Given the description of an element on the screen output the (x, y) to click on. 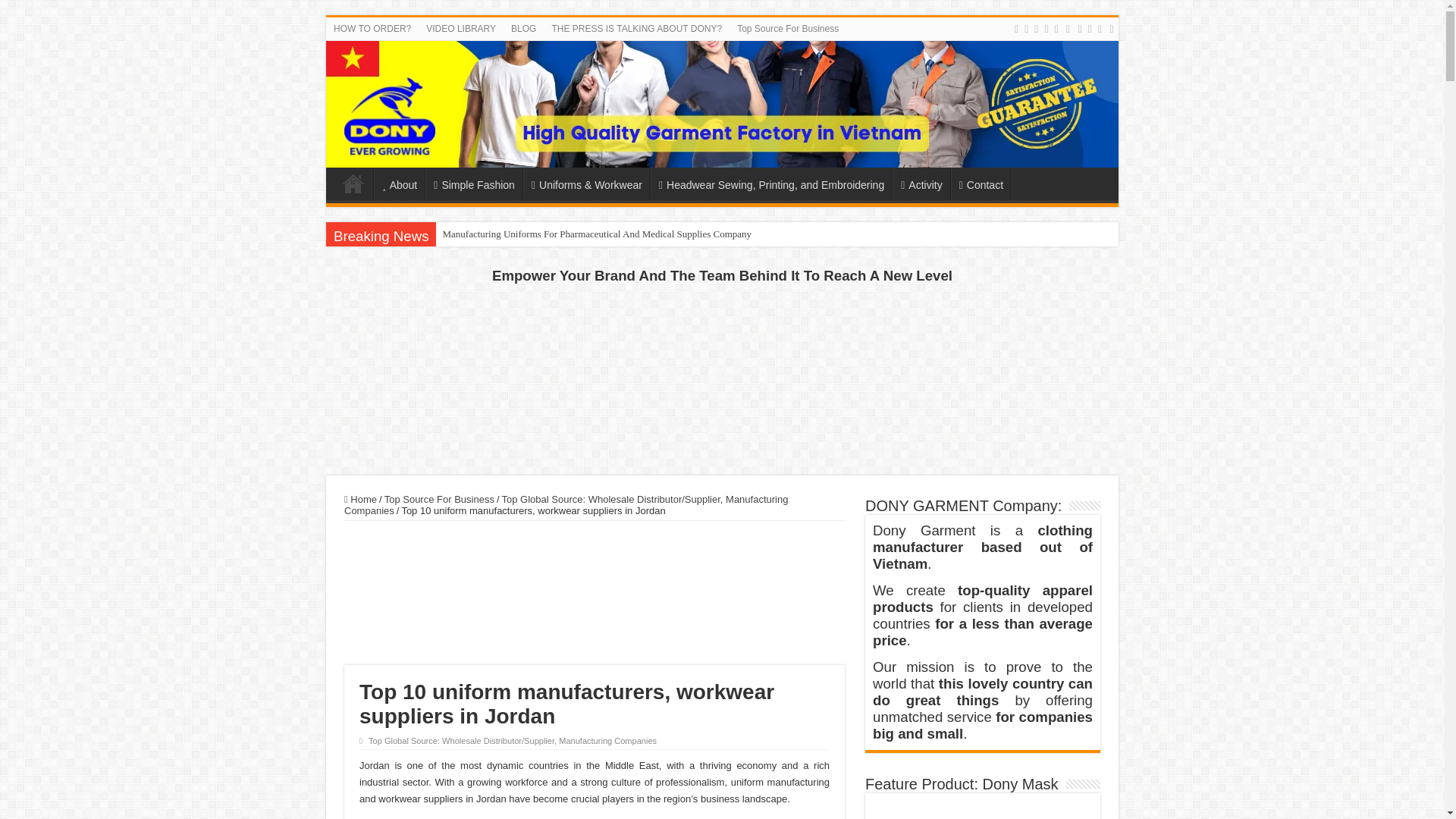
HOW TO ORDER? (372, 28)
Simple Fashion (473, 183)
Activity (920, 183)
Home (352, 183)
THE PRESS IS TALKING ABOUT DONY? (636, 28)
Headwear Sewing, Printing, and Embroidering (770, 183)
Contact (980, 183)
BLOG (523, 28)
VIDEO LIBRARY (461, 28)
